Given the description of an element on the screen output the (x, y) to click on. 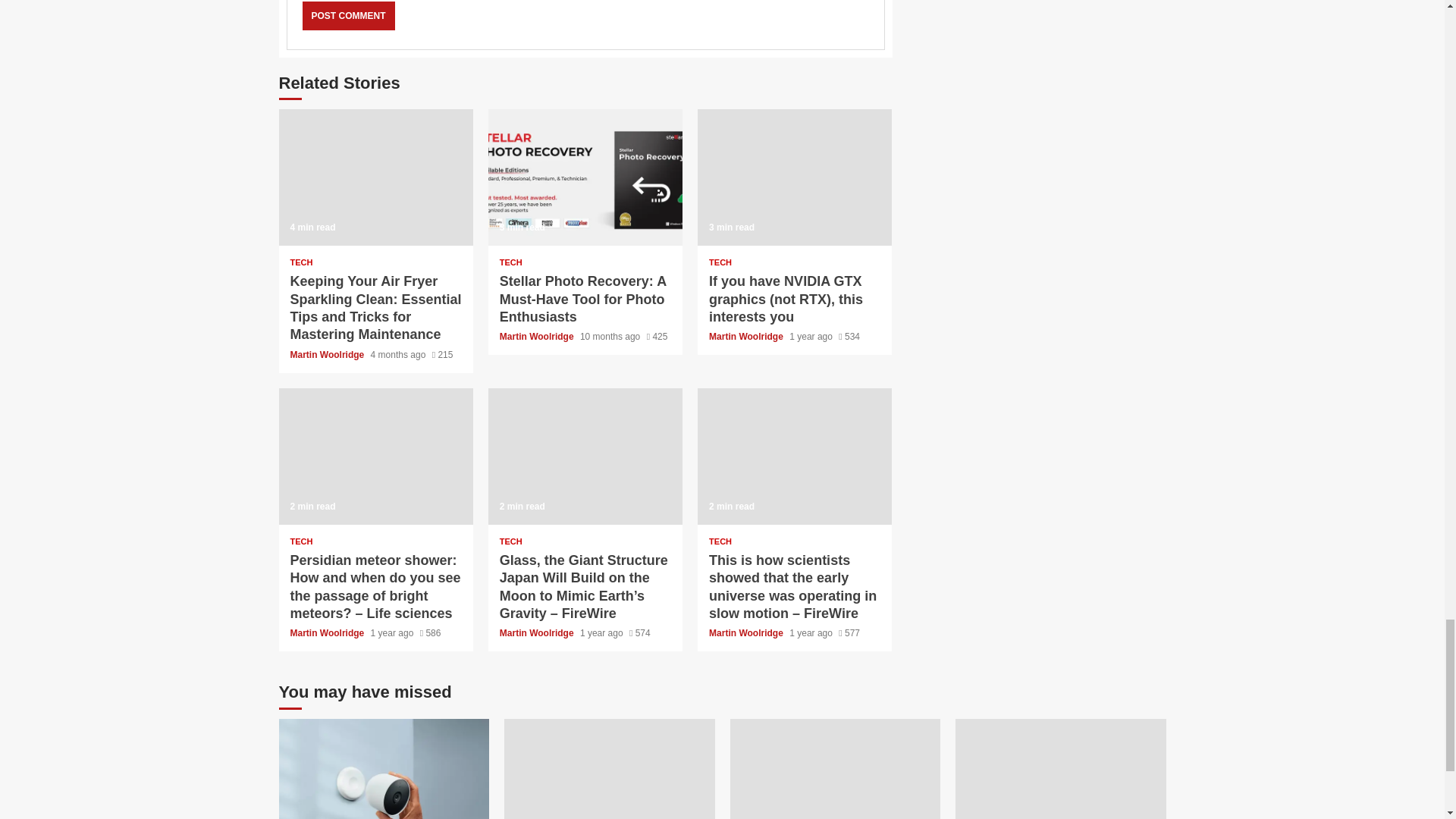
TECH (510, 262)
215 (442, 354)
425 (657, 336)
TECH (301, 262)
Post Comment (347, 15)
Martin Woolridge (537, 336)
Post Comment (347, 15)
Martin Woolridge (327, 354)
